Given the description of an element on the screen output the (x, y) to click on. 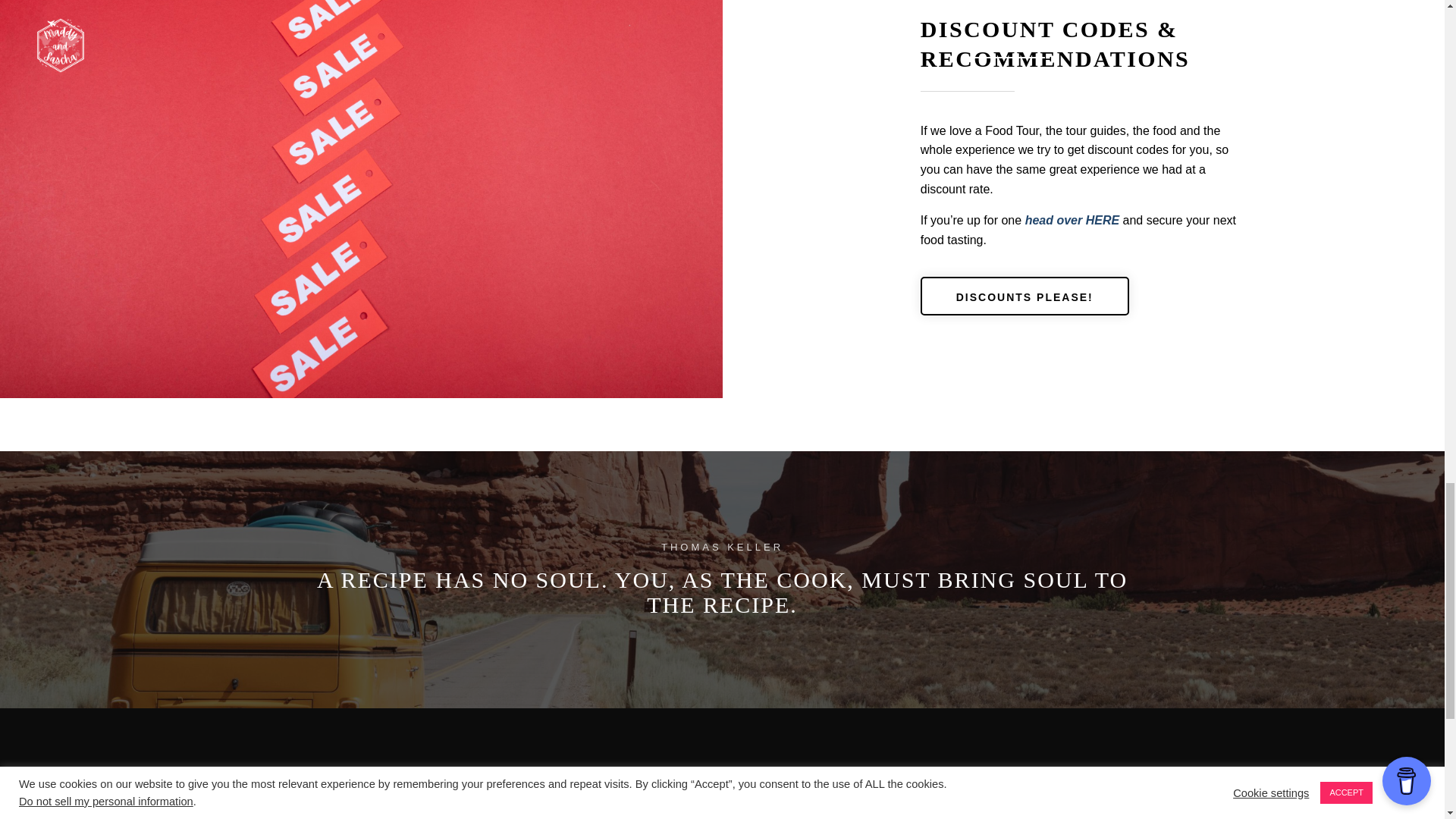
About us (1023, 805)
Keep us on the Road! (1023, 816)
CCPA (420, 816)
Privacy Policy (420, 805)
head over HERE (1072, 219)
DISCOUNTS PLEASE! (1024, 295)
